Given the description of an element on the screen output the (x, y) to click on. 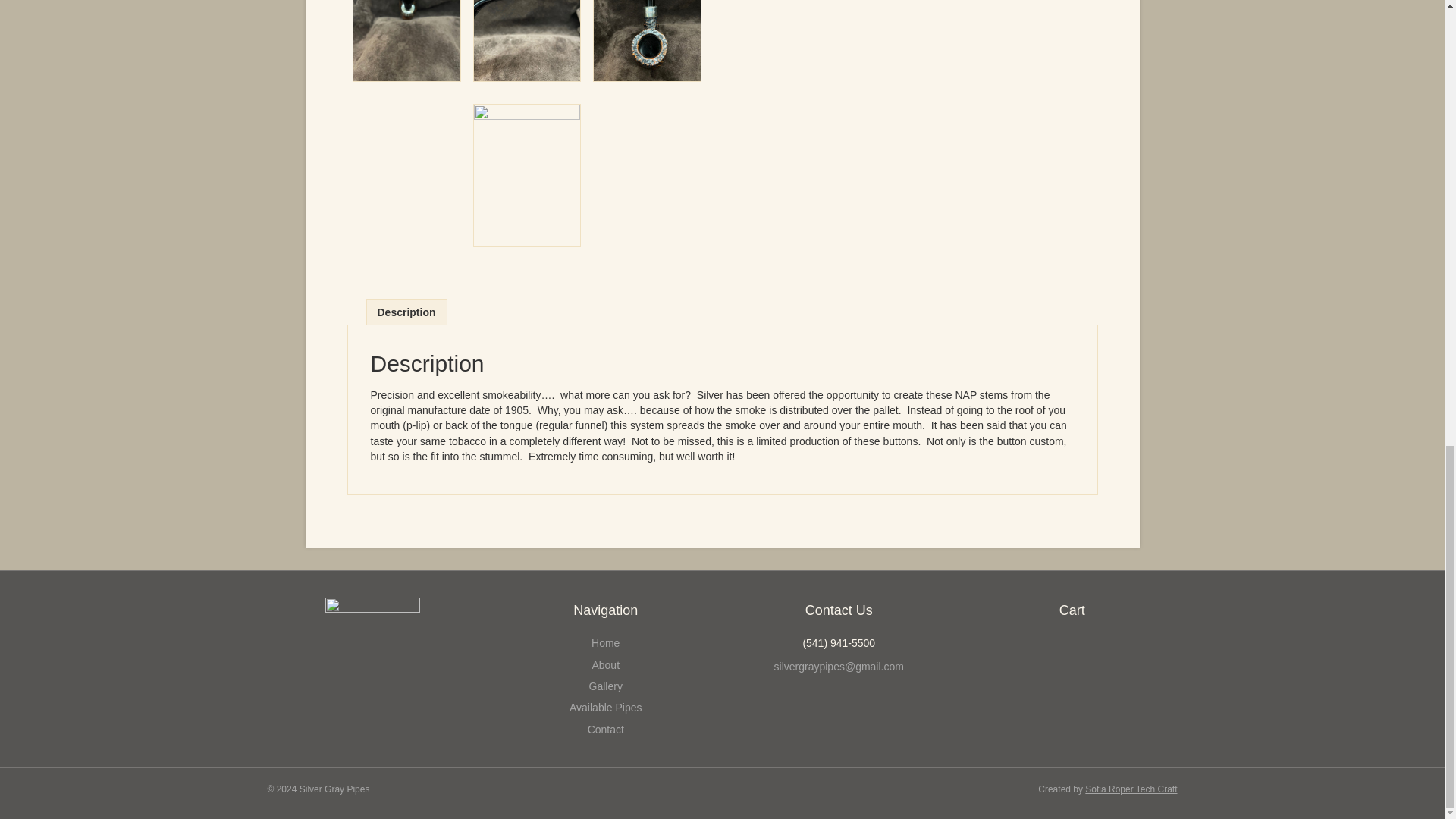
Description (406, 311)
Sofia Roper Tech Craft (1130, 788)
Available Pipes (605, 707)
About (605, 664)
Gallery (606, 686)
Contact (606, 729)
Home (605, 643)
